Given the description of an element on the screen output the (x, y) to click on. 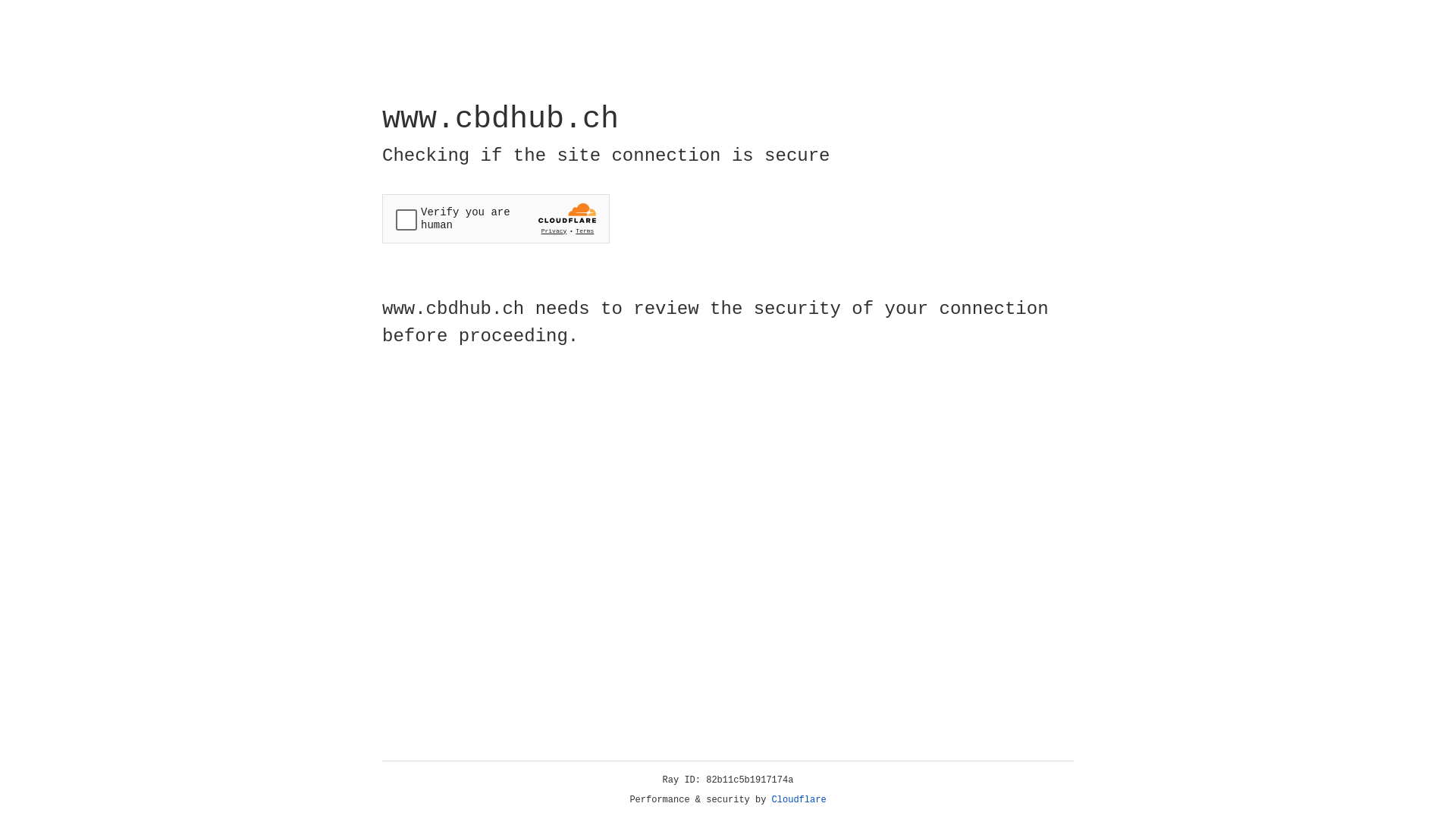
Widget containing a Cloudflare security challenge Element type: hover (495, 218)
Cloudflare Element type: text (798, 799)
